Given the description of an element on the screen output the (x, y) to click on. 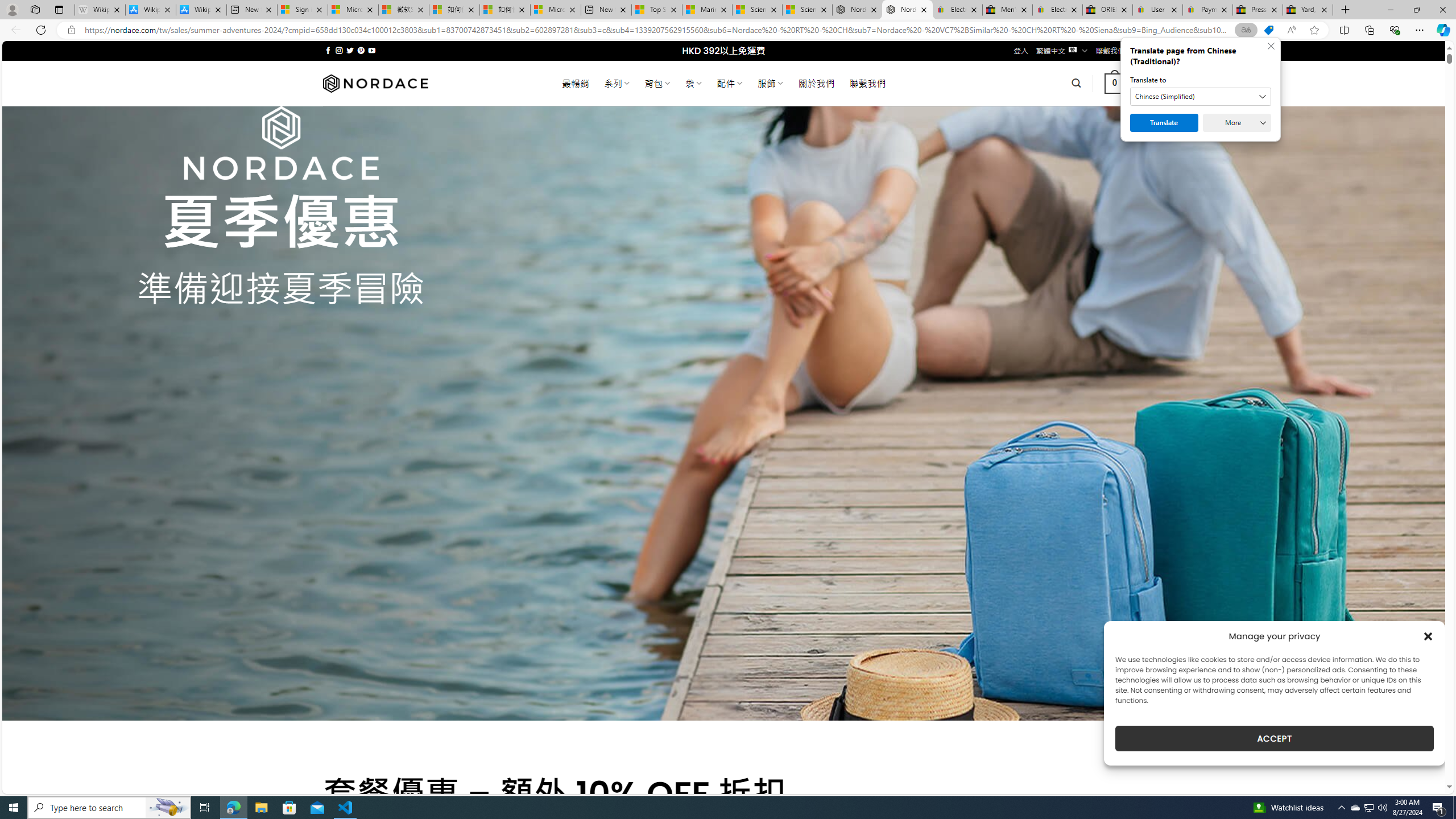
Translate to (1200, 96)
